Given the description of an element on the screen output the (x, y) to click on. 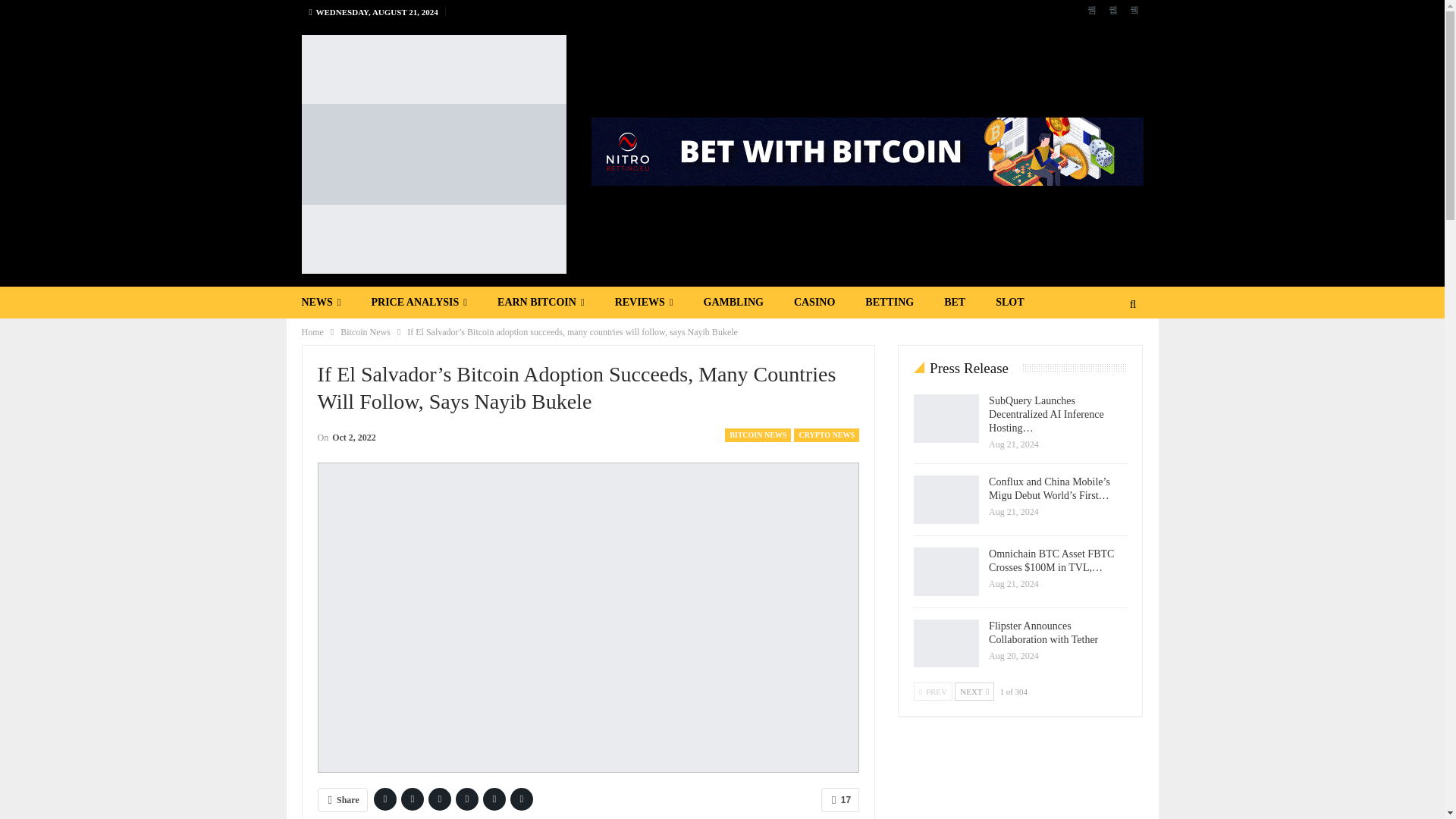
REVIEWS (643, 302)
NEWS (321, 302)
EARN BITCOIN (540, 302)
PRICE ANALYSIS (418, 302)
